Given the description of an element on the screen output the (x, y) to click on. 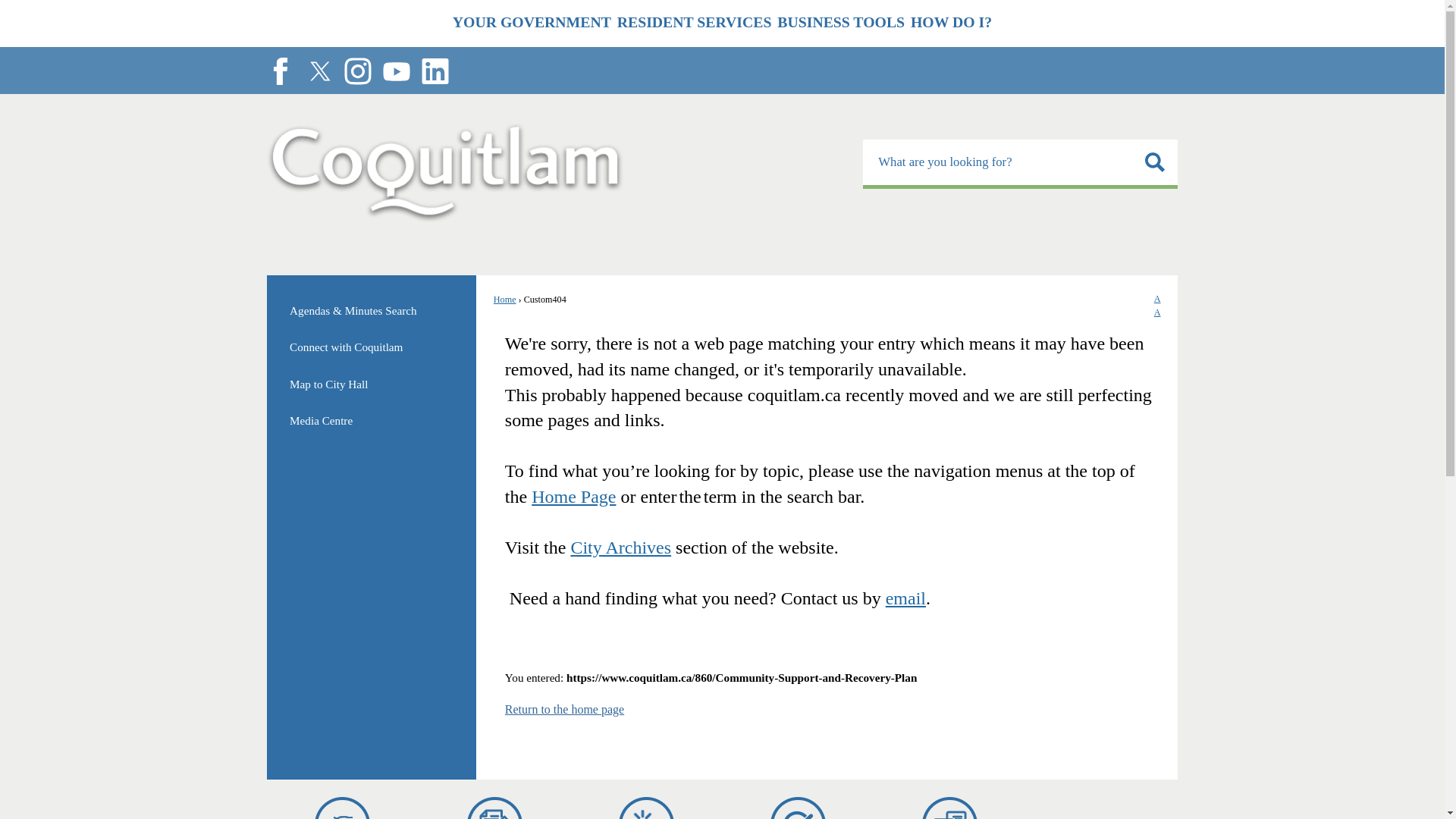
What are you looking for? (950, 807)
Instagram (1020, 164)
YouTube (357, 71)
Map to City Hall (396, 71)
Home Page (371, 384)
email (573, 496)
Skip to Main Content (905, 598)
HOW DO I? (6, 6)
City Archives (950, 23)
